Given the description of an element on the screen output the (x, y) to click on. 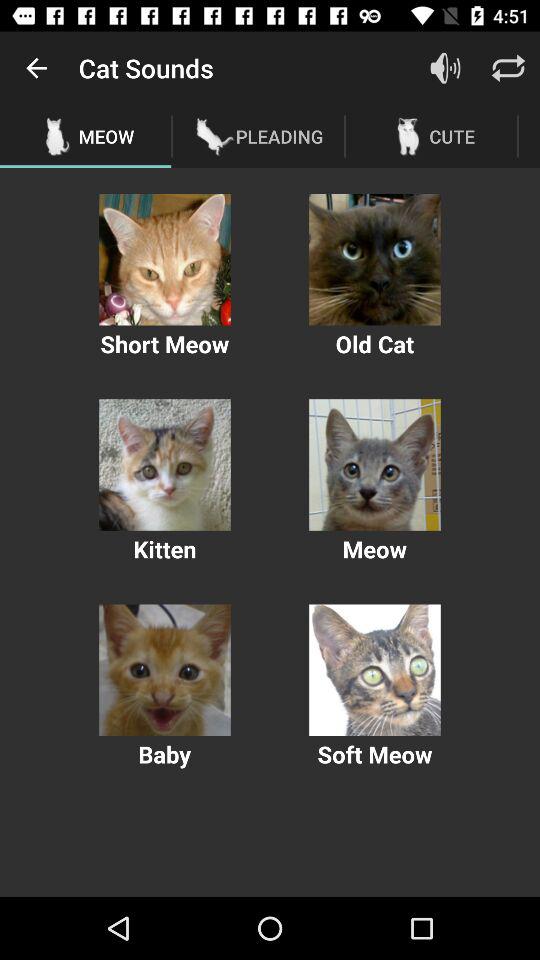
launch the item next to the cat sounds (36, 68)
